Given the description of an element on the screen output the (x, y) to click on. 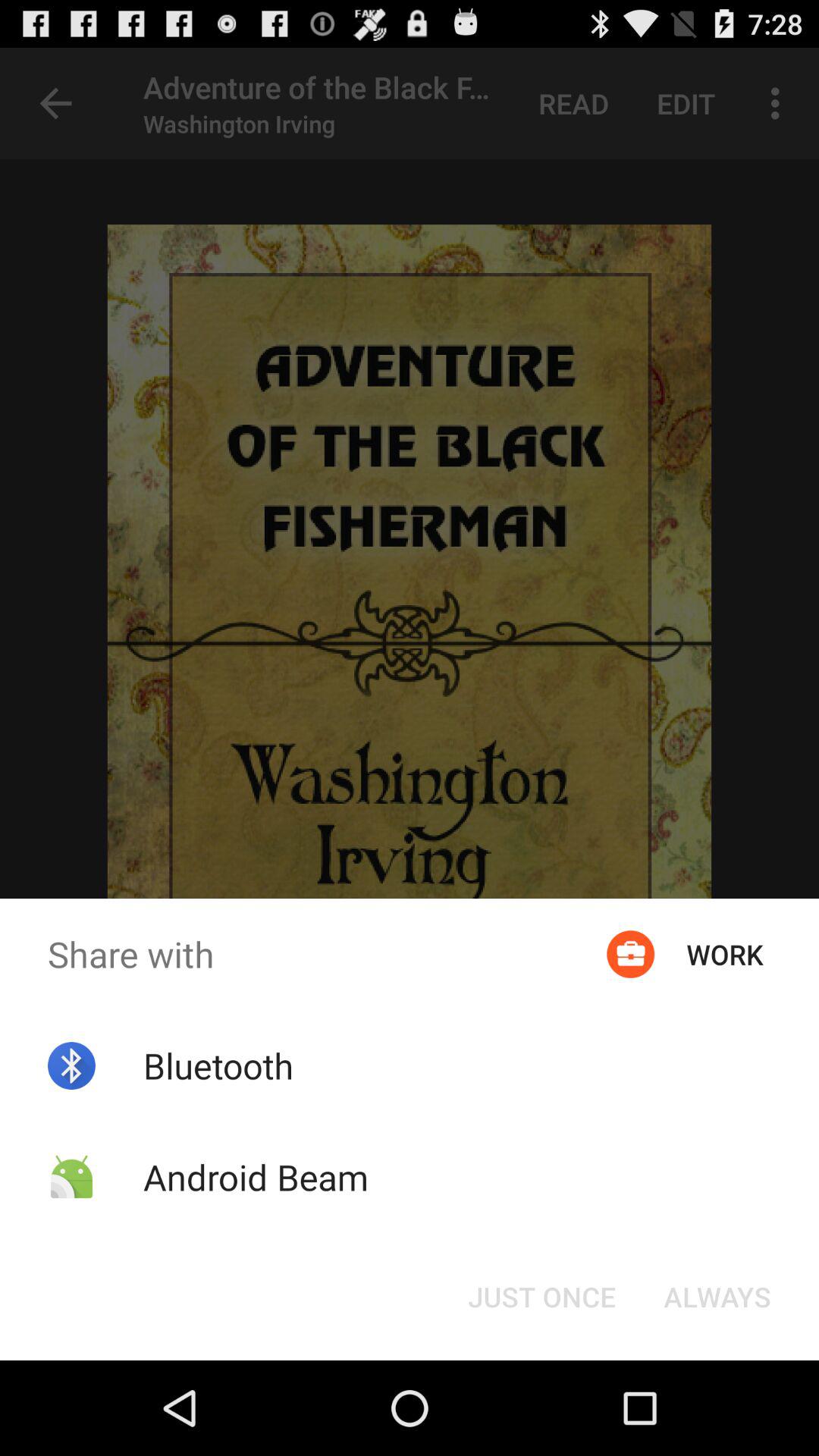
tap the icon below bluetooth app (255, 1176)
